Given the description of an element on the screen output the (x, y) to click on. 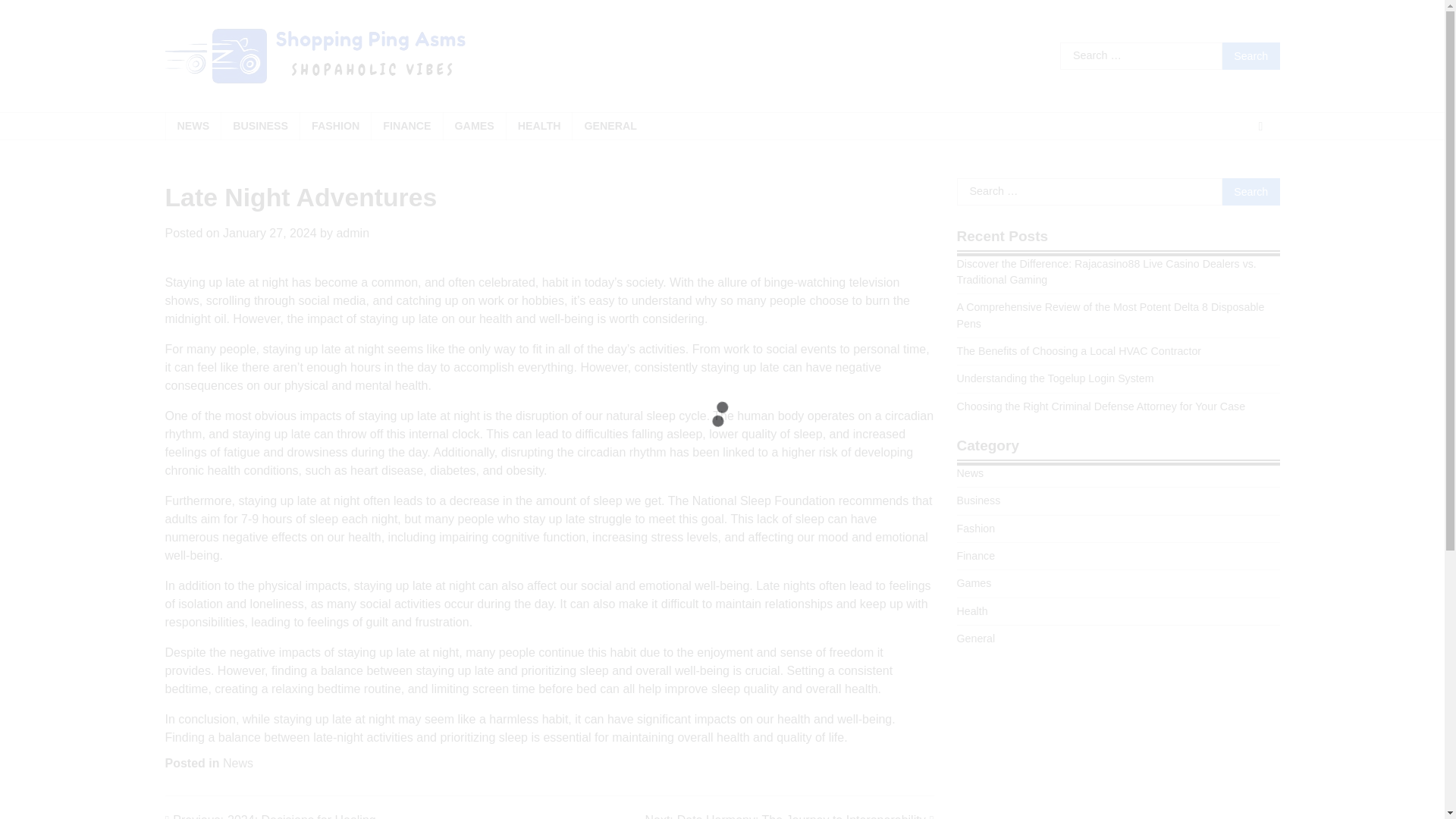
Understanding the Togelup Login System (1055, 378)
Search (1251, 55)
Business (978, 500)
BUSINESS (260, 126)
Search (1251, 191)
NEWS (193, 126)
News (237, 762)
Search (1251, 55)
View Random Post (1260, 126)
News (970, 472)
Search (789, 815)
Health (1251, 191)
